Given the description of an element on the screen output the (x, y) to click on. 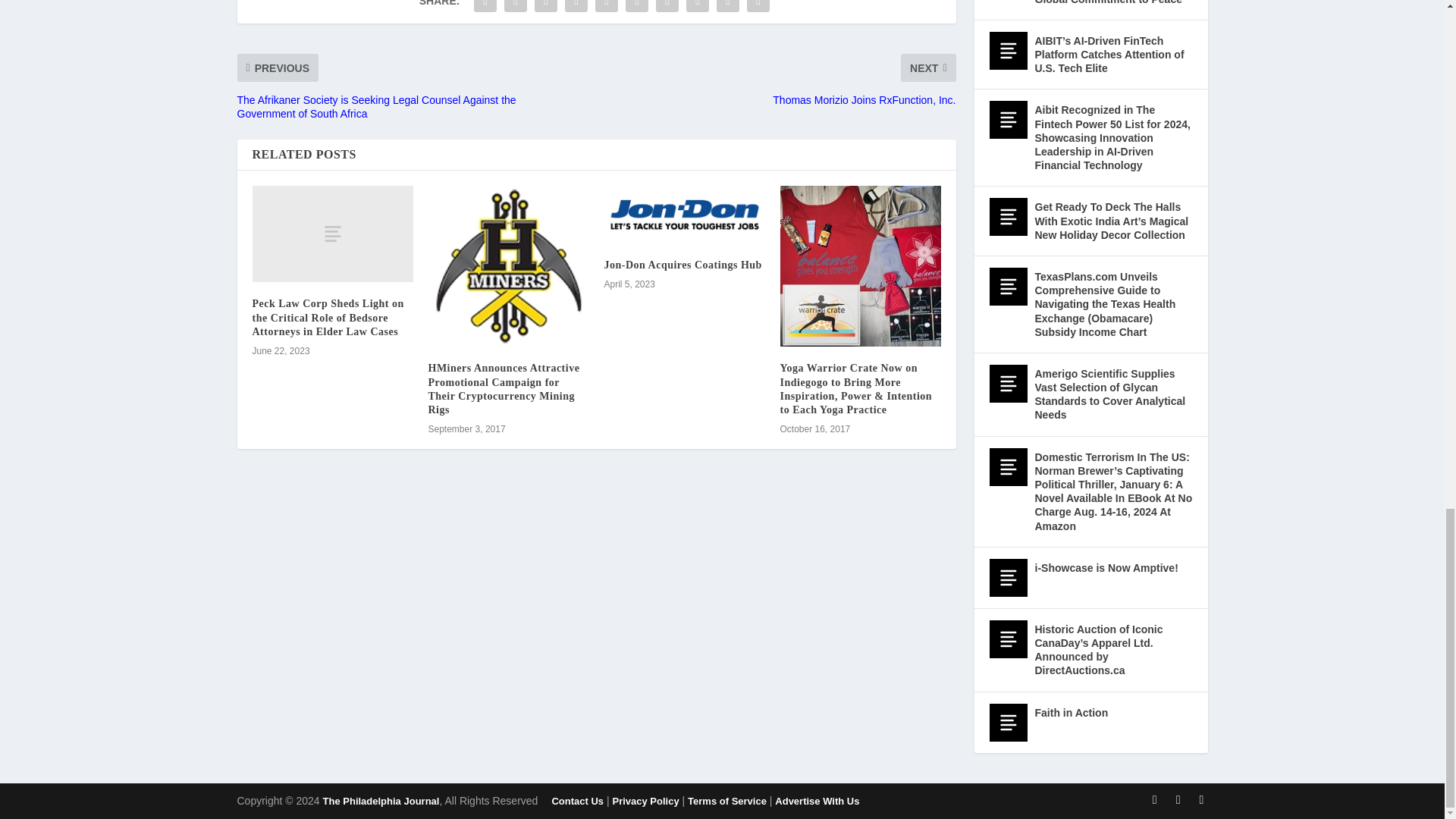
Jon-Don Acquires Coatings Hub (684, 214)
